Given the description of an element on the screen output the (x, y) to click on. 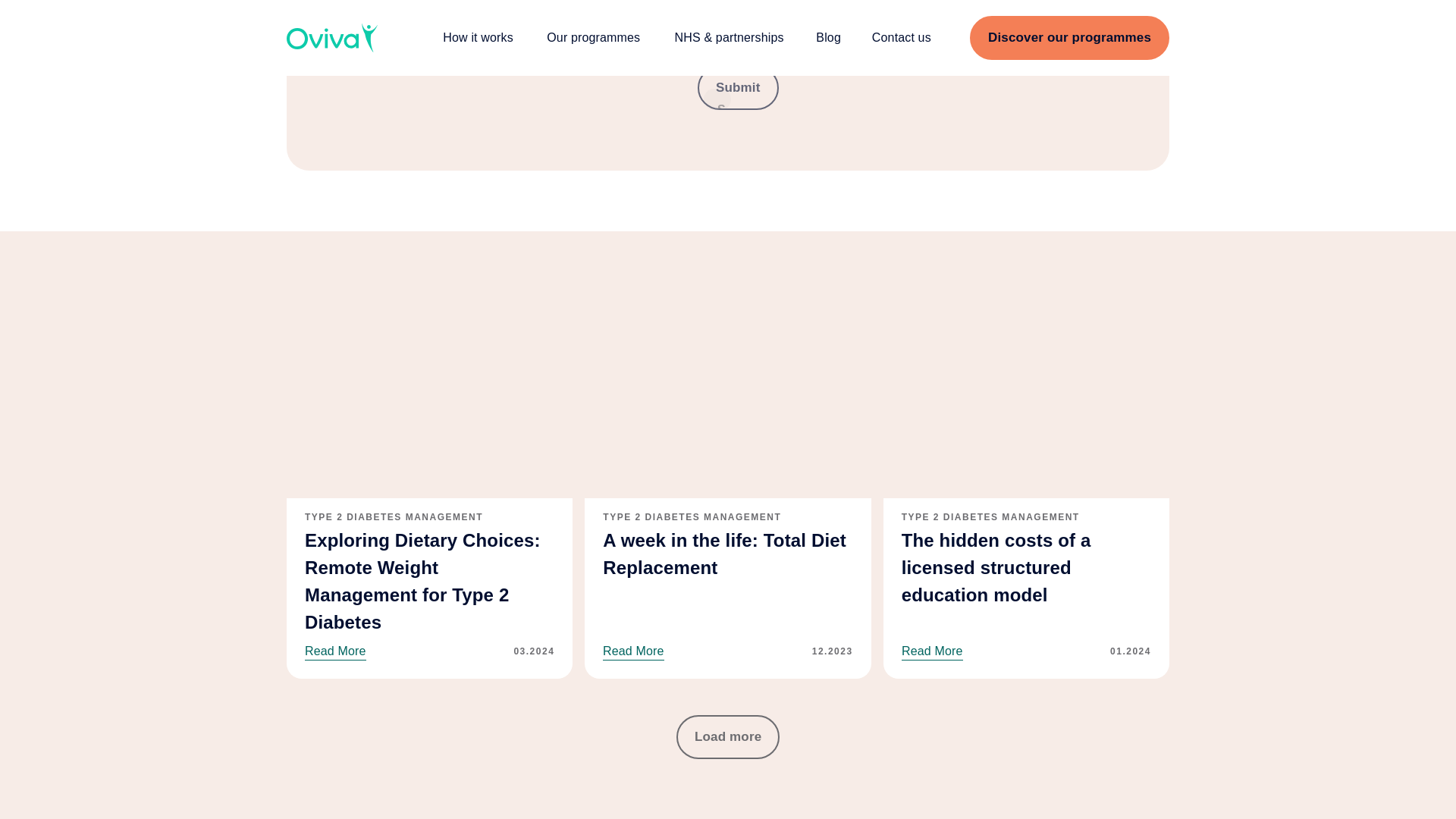
Submit (716, 98)
